Given the description of an element on the screen output the (x, y) to click on. 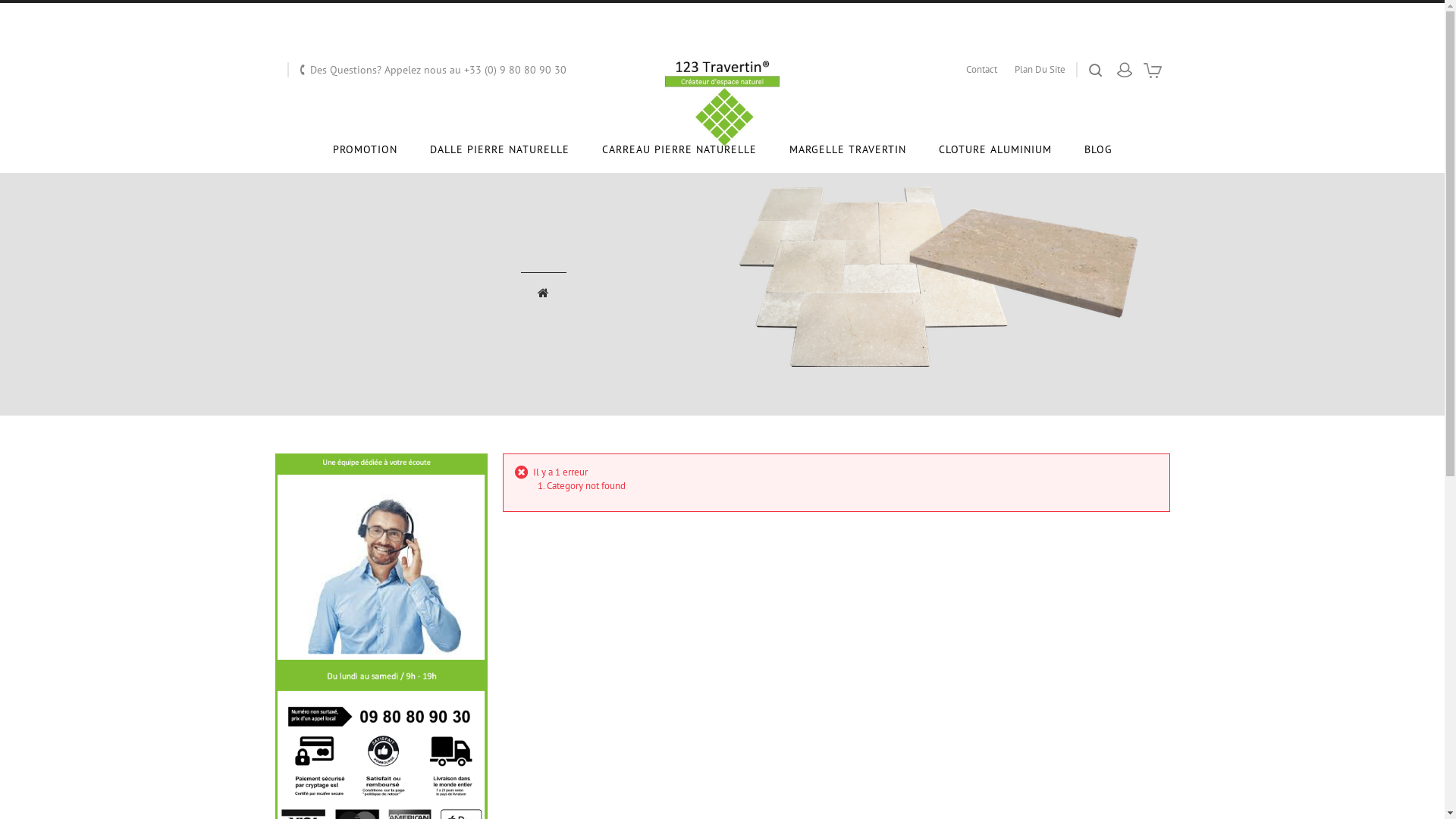
CARREAU PIERRE NATURELLE Element type: text (678, 148)
CLOTURE ALUMINIUM Element type: text (994, 148)
Plan Du Site Element type: text (1039, 68)
MARGELLE TRAVERTIN Element type: text (846, 148)
Contact Element type: text (981, 68)
BLOG Element type: text (1098, 148)
DALLE PIERRE NATURELLE Element type: text (498, 148)
123Travertin Element type: hover (722, 103)
Panier (vide) Element type: text (1152, 75)
LeftBanner 1 Element type: hover (380, 646)
PROMOTION Element type: text (363, 148)
